Given the description of an element on the screen output the (x, y) to click on. 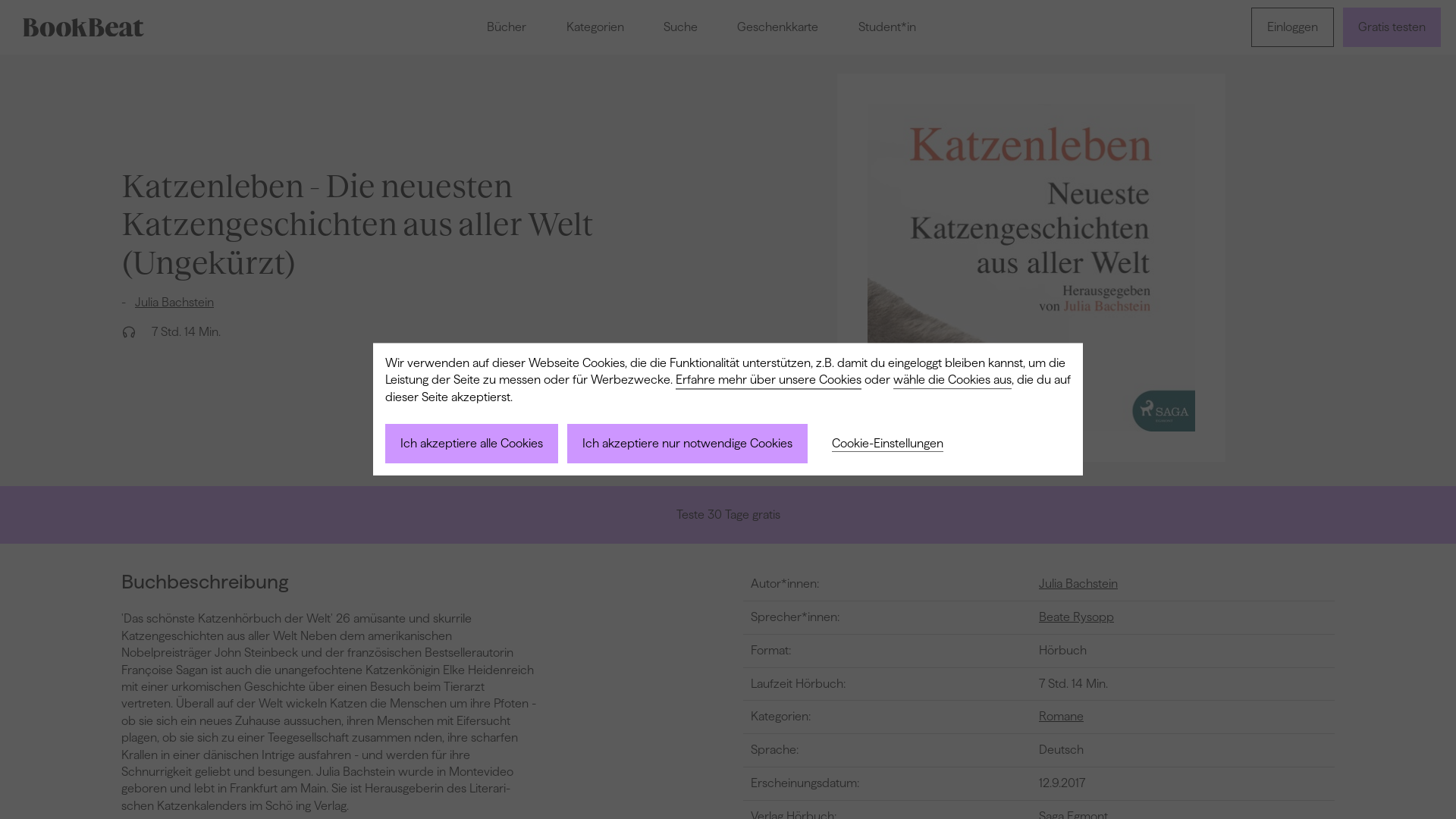
Romane Element type: text (1060, 716)
Student*in Element type: text (887, 26)
Einloggen Element type: text (1292, 27)
Cookie-Einstellungen Element type: text (887, 443)
Julia Bachstein Element type: text (173, 301)
Teste 30 Tage gratis Element type: text (728, 514)
Kategorien Element type: text (595, 26)
Gratis testen Element type: text (1391, 27)
Ich akzeptiere nur notwendige Cookies Element type: text (687, 444)
Suche Element type: text (680, 26)
Beate Rysopp Element type: text (1075, 616)
Julia Bachstein Element type: text (1077, 583)
Geschenkkarte Element type: text (777, 26)
Ich akzeptiere alle Cookies Element type: text (471, 444)
